Given the description of an element on the screen output the (x, y) to click on. 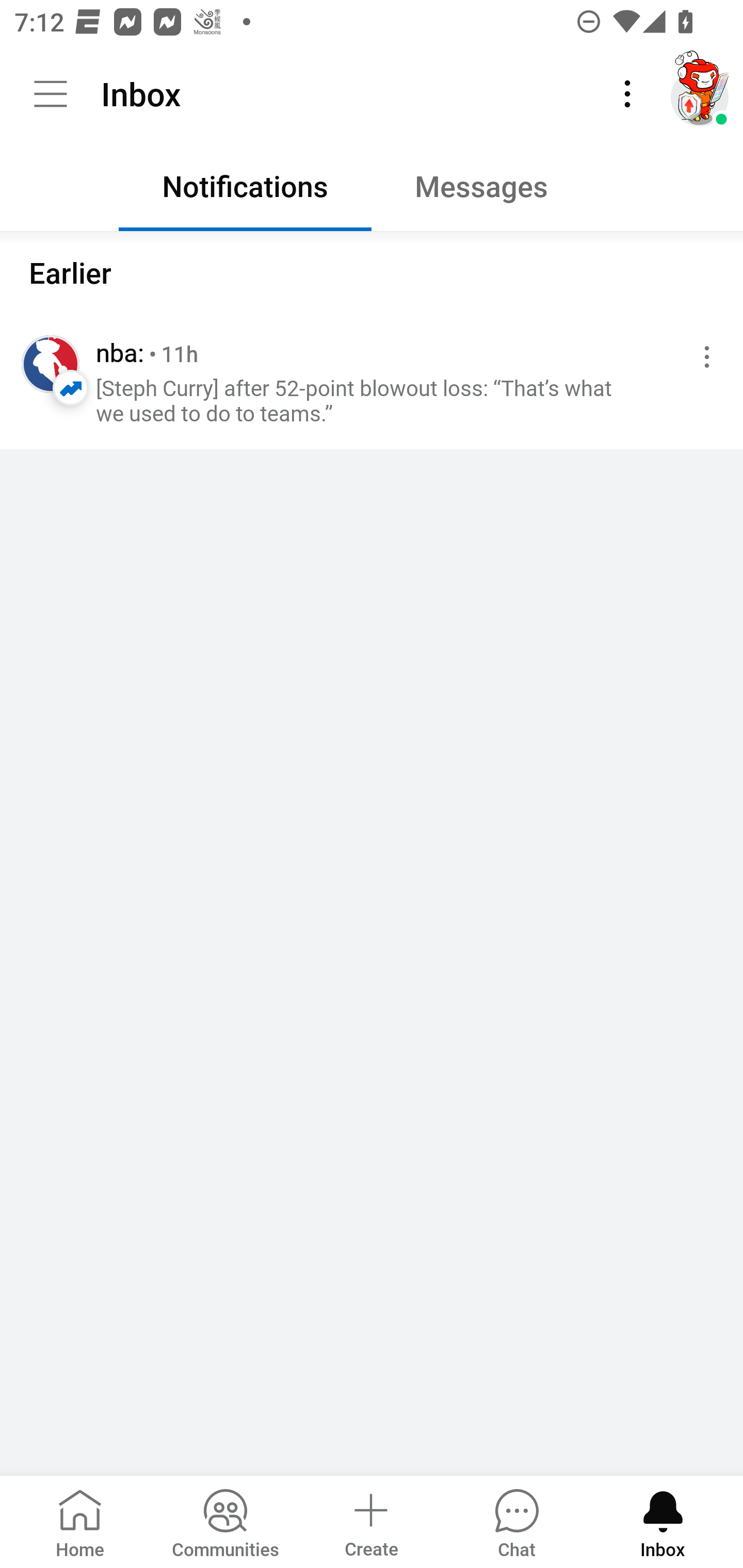
Community menu (50, 93)
More (626, 93)
TestAppium002 account (699, 93)
Messages (497, 191)
More options (703, 356)
Home (80, 1520)
Communities (225, 1520)
Create a post Create (370, 1520)
Chat (516, 1520)
Inbox (662, 1520)
